Given the description of an element on the screen output the (x, y) to click on. 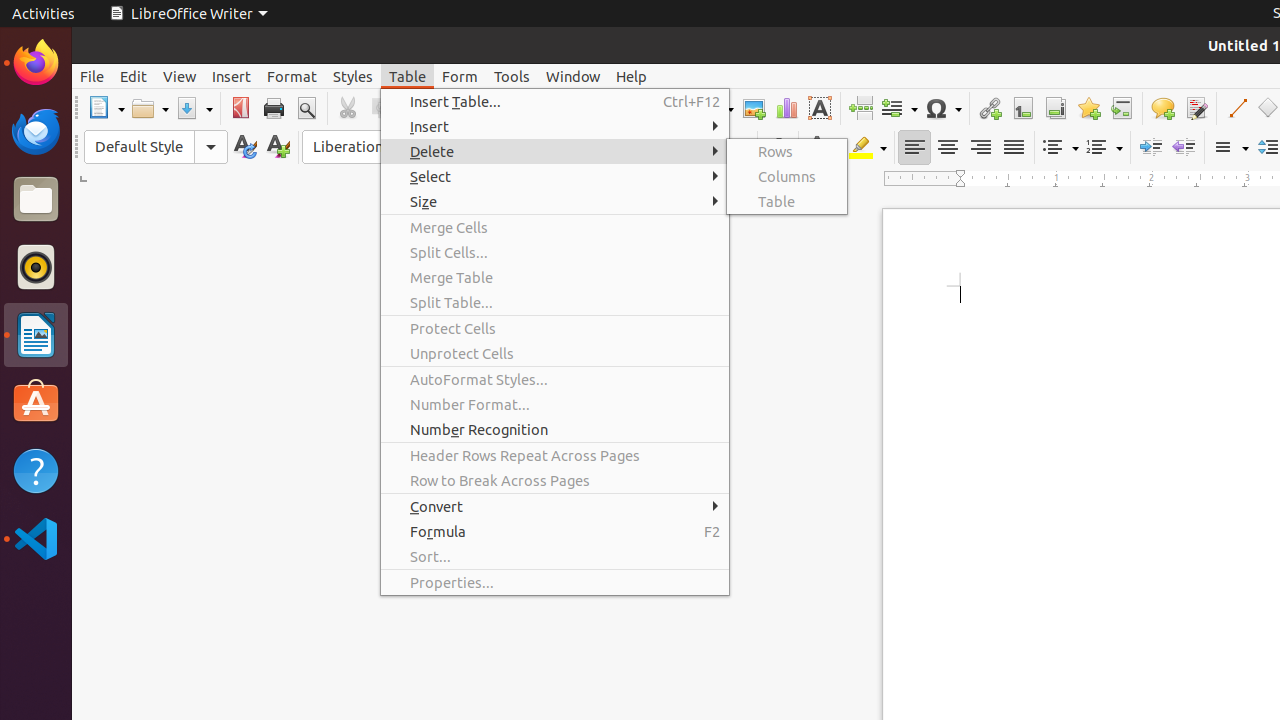
Numbering Element type: push-button (1104, 147)
Select Element type: menu (555, 176)
Page Break Element type: push-button (860, 108)
Insert Element type: menu (555, 126)
Edit Element type: menu (133, 76)
